Given the description of an element on the screen output the (x, y) to click on. 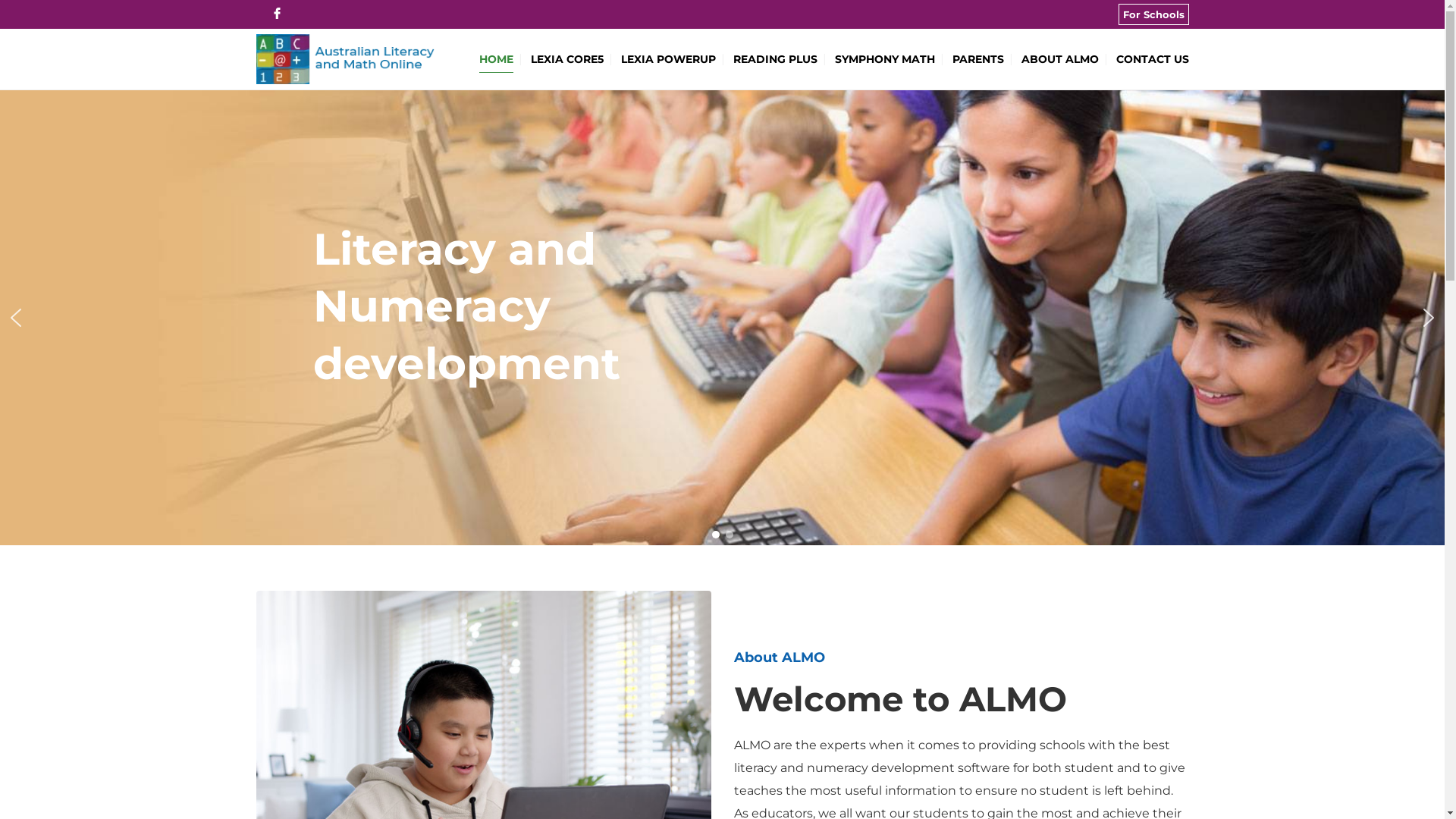
LEXIA CORE5 Element type: text (566, 58)
READING PLUS Element type: text (774, 58)
CONTACT US Element type: text (1152, 58)
ABOUT ALMO Element type: text (1059, 58)
LEXIA POWERUP Element type: text (667, 58)
SYMPHONY MATH Element type: text (884, 58)
PARENTS Element type: text (978, 58)
For Schools Element type: text (1152, 14)
HOME Element type: text (496, 59)
